Given the description of an element on the screen output the (x, y) to click on. 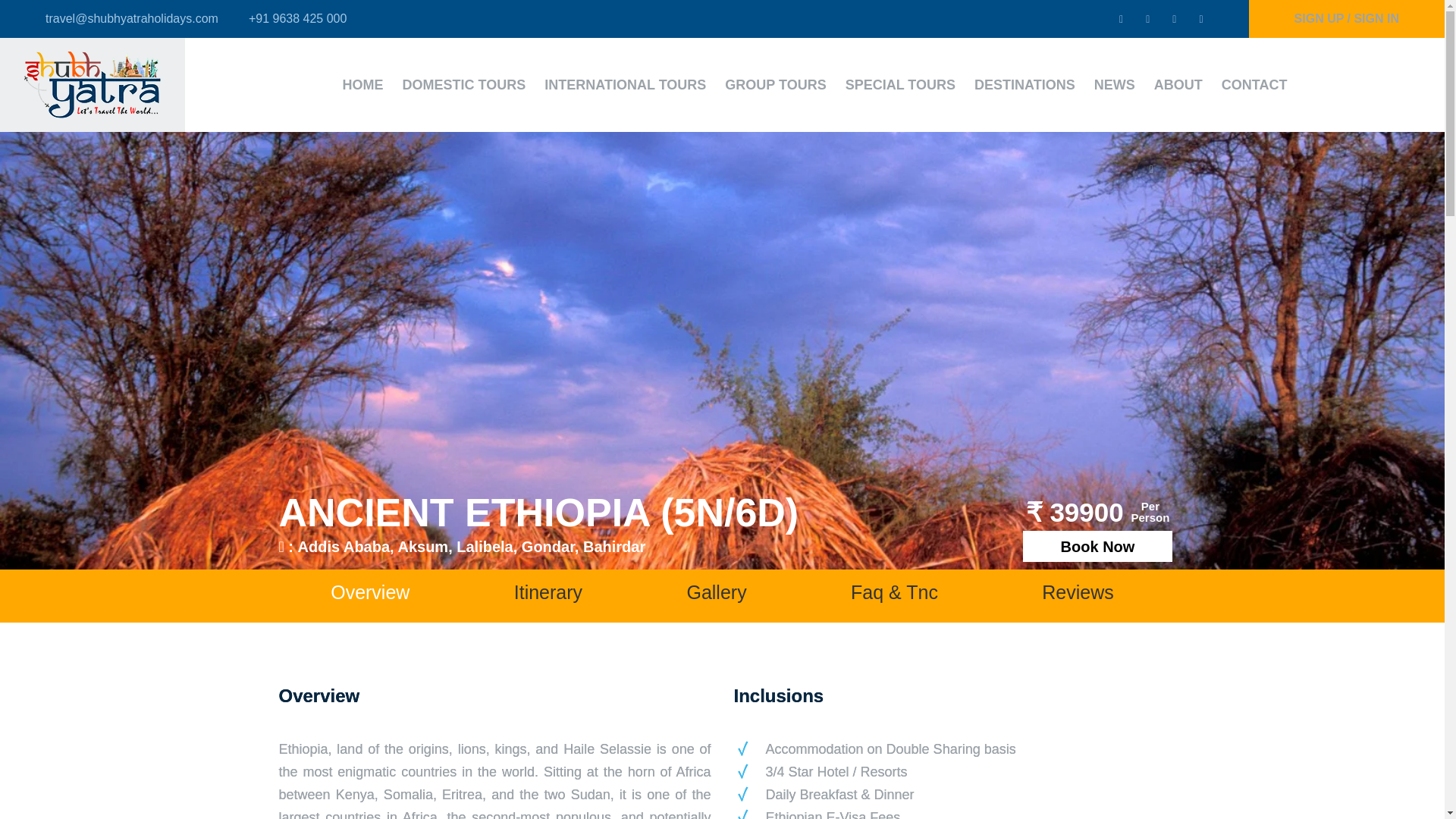
DOMESTIC TOURS (464, 84)
HOME (363, 84)
